Given the description of an element on the screen output the (x, y) to click on. 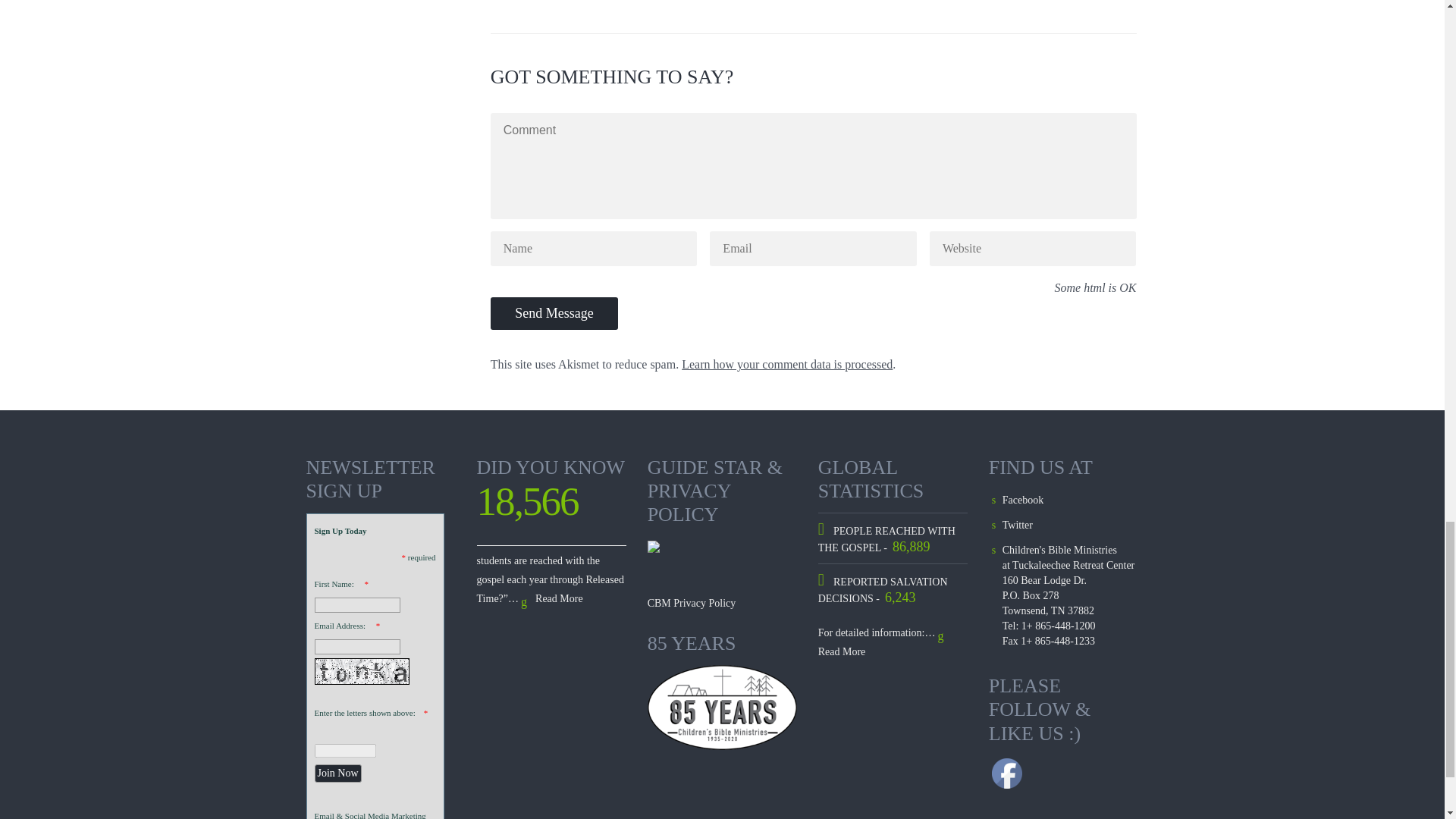
Join Now (337, 773)
Send Message (553, 313)
85 Years (722, 708)
